Given the description of an element on the screen output the (x, y) to click on. 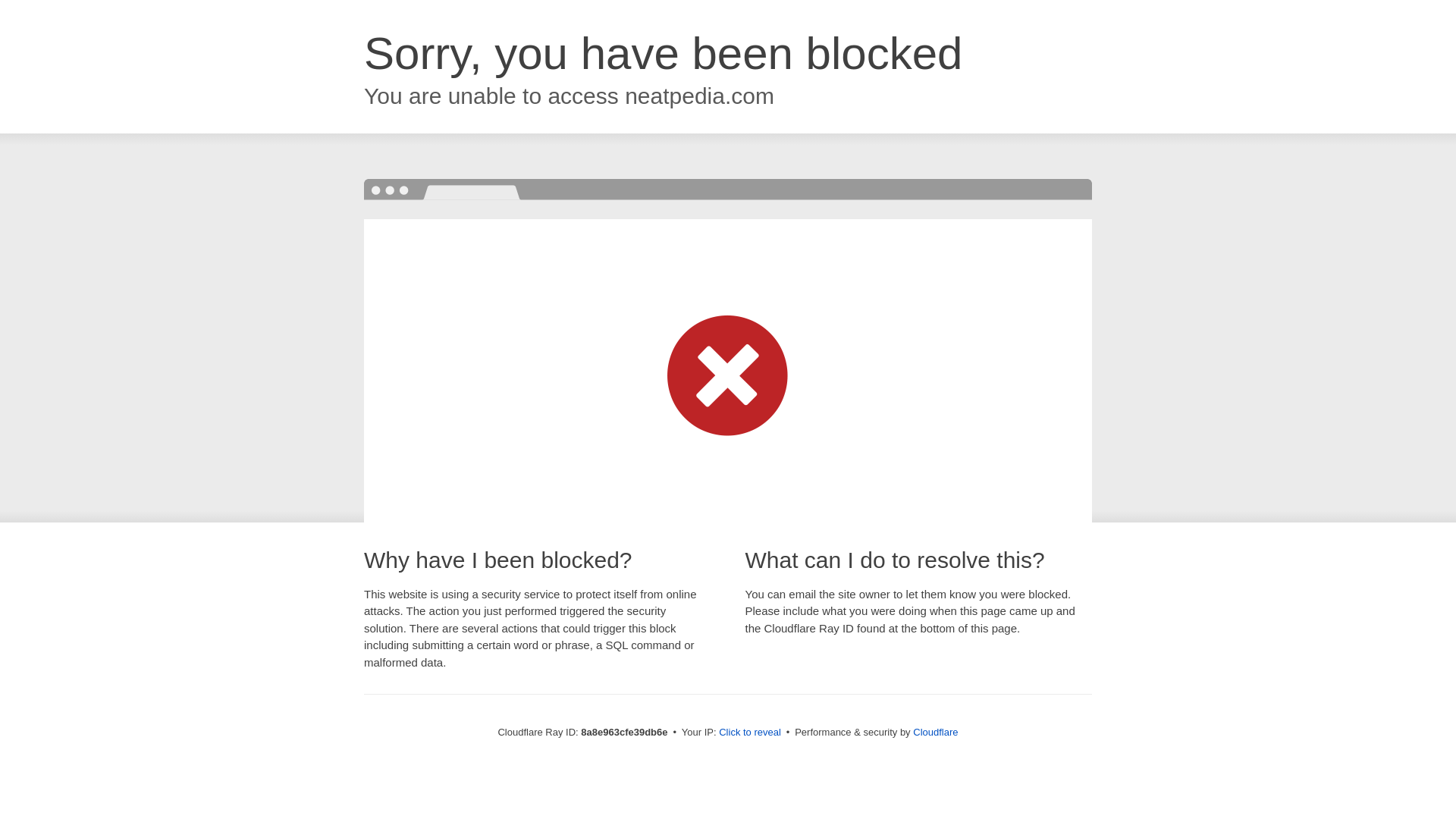
Cloudflare (935, 731)
Click to reveal (749, 732)
